Given the description of an element on the screen output the (x, y) to click on. 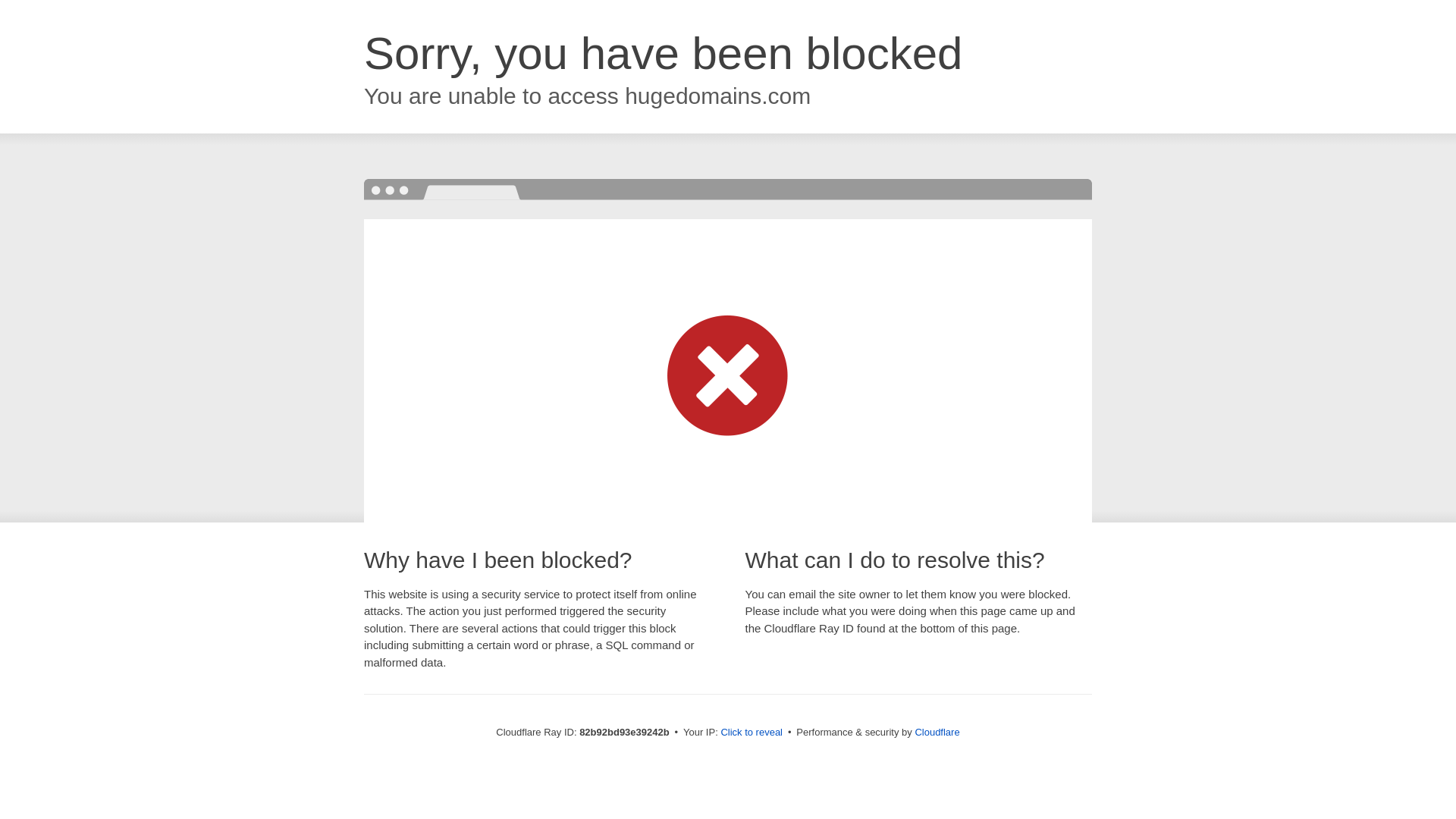
Cloudflare Element type: text (936, 731)
Click to reveal Element type: text (751, 732)
